Given the description of an element on the screen output the (x, y) to click on. 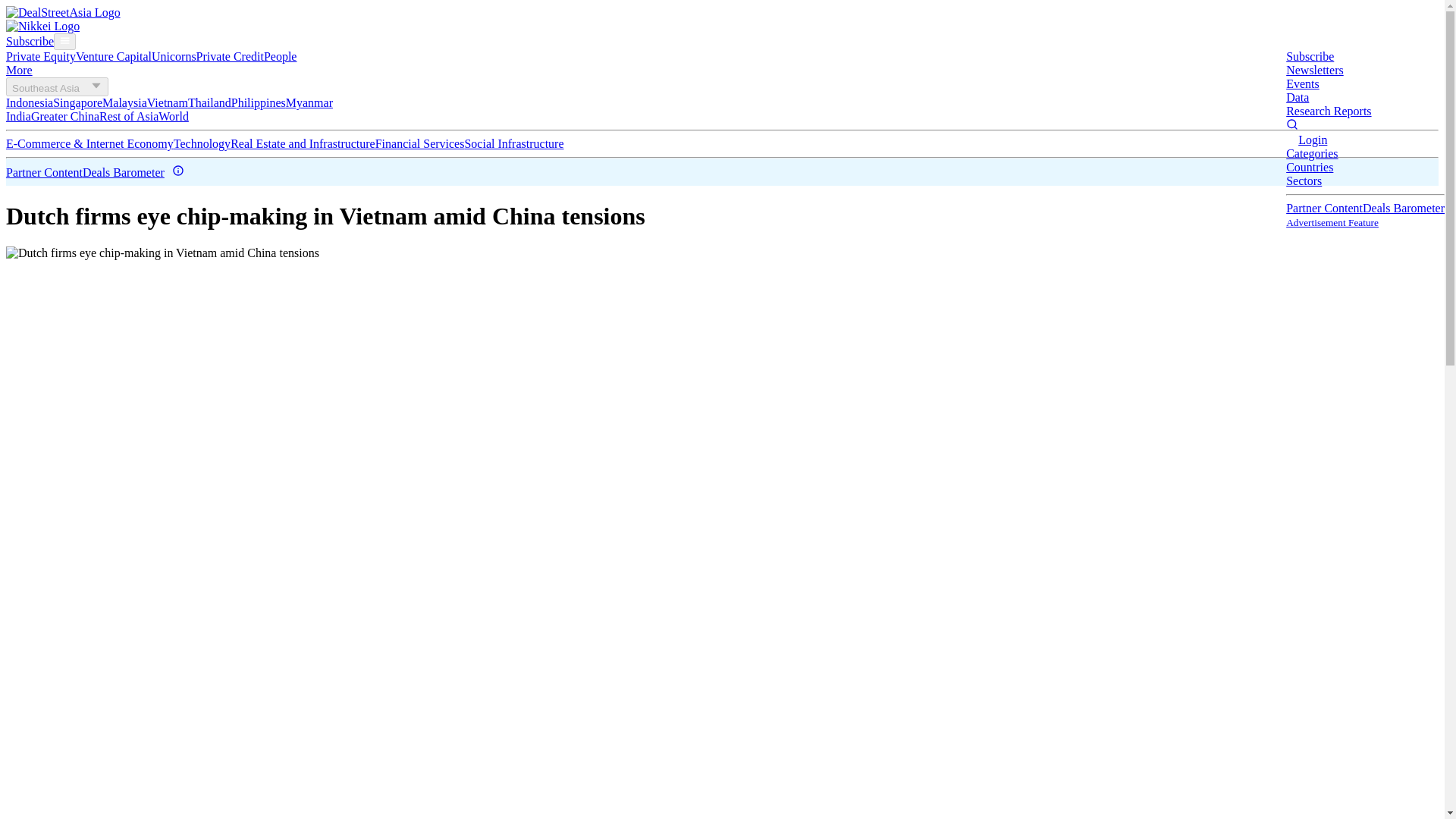
Sectors (1303, 180)
People (280, 56)
Partner Content (1323, 207)
Venture Capital (113, 56)
Private Credit (229, 56)
Categories (1311, 153)
Thailand (209, 102)
Data (1296, 97)
Subscribe (1309, 56)
Countries (1309, 166)
Research Reports (1328, 110)
Subscribe (29, 41)
Indonesia (28, 102)
Philippines (258, 102)
Vietnam (167, 102)
